Given the description of an element on the screen output the (x, y) to click on. 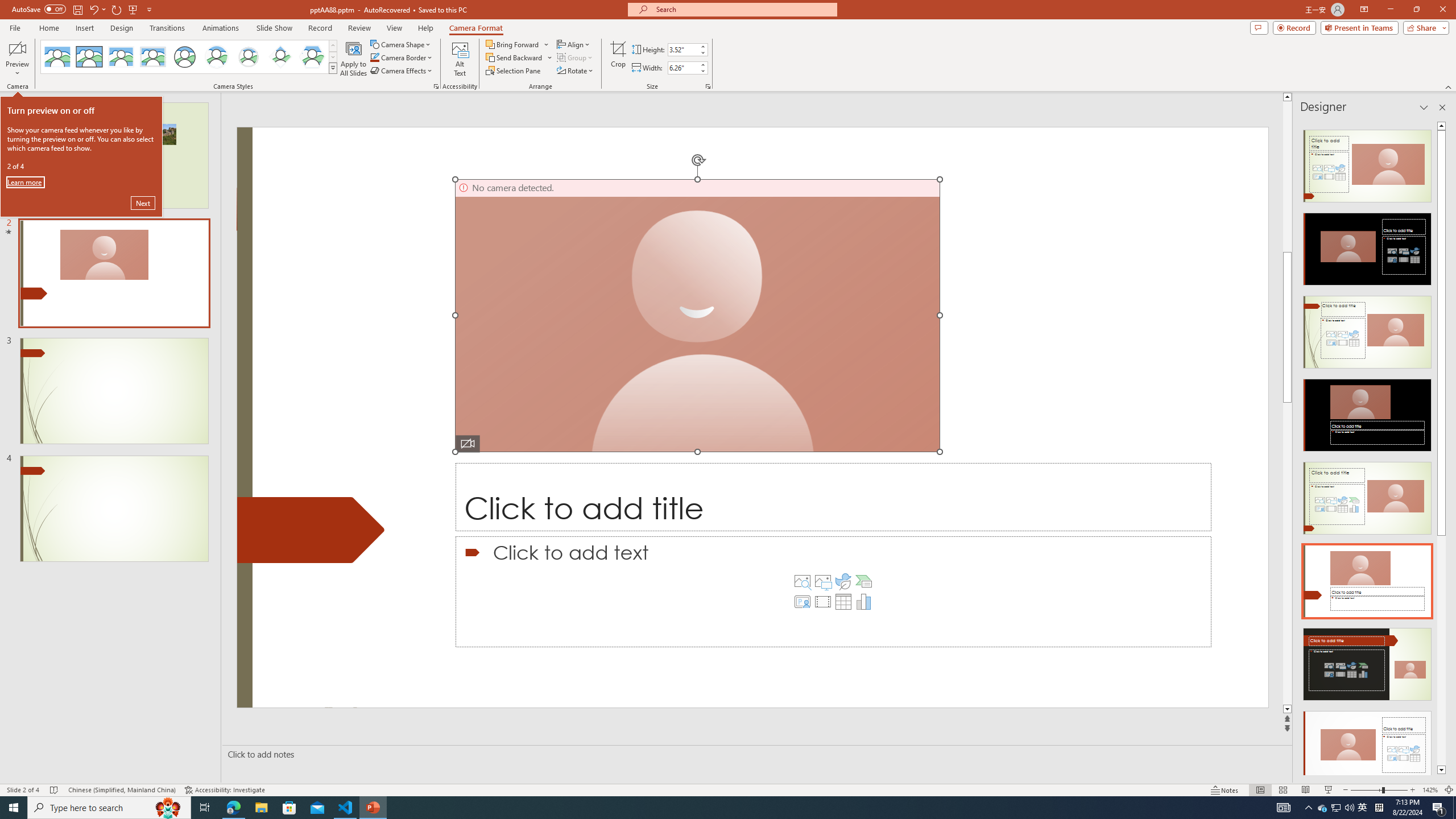
Simple Frame Rectangle (88, 56)
Camera Effects (402, 69)
Recommended Design: Design Idea (1366, 162)
Class: NetUIScrollBar (1441, 447)
Insert Table (843, 601)
Camera Styles (333, 67)
Enable Camera Preview (17, 48)
